Given the description of an element on the screen output the (x, y) to click on. 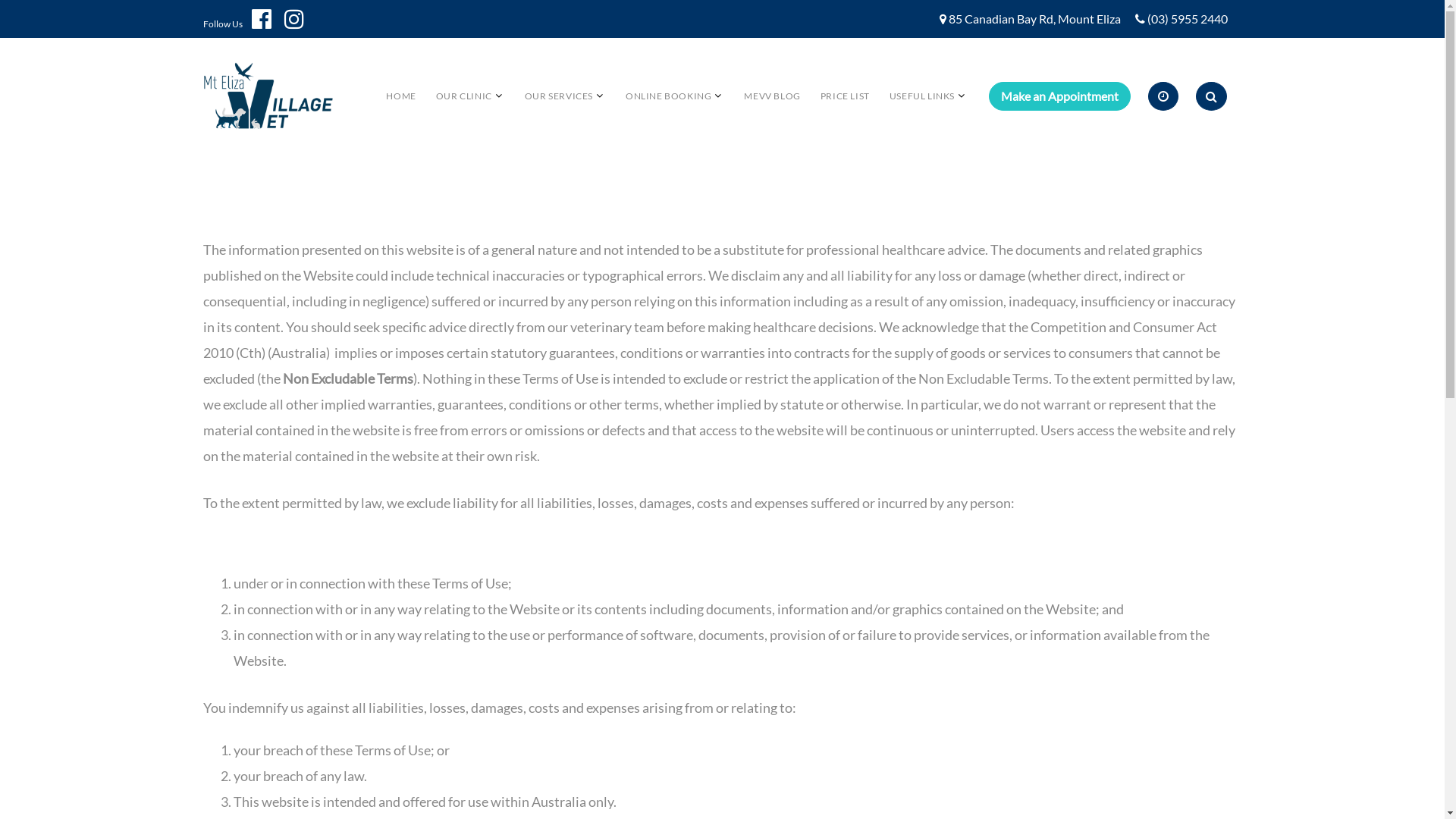
(03) 5955 2440 Element type: text (1186, 19)
HOME Element type: text (400, 95)
USEFUL LINKS Element type: text (921, 95)
Make an Appointment Element type: text (1059, 95)
ONLINE BOOKING Element type: text (668, 95)
OUR CLINIC Element type: text (464, 95)
PRICE LIST Element type: text (844, 95)
MEVV BLOG Element type: text (771, 95)
OUR SERVICES Element type: text (558, 95)
